Given the description of an element on the screen output the (x, y) to click on. 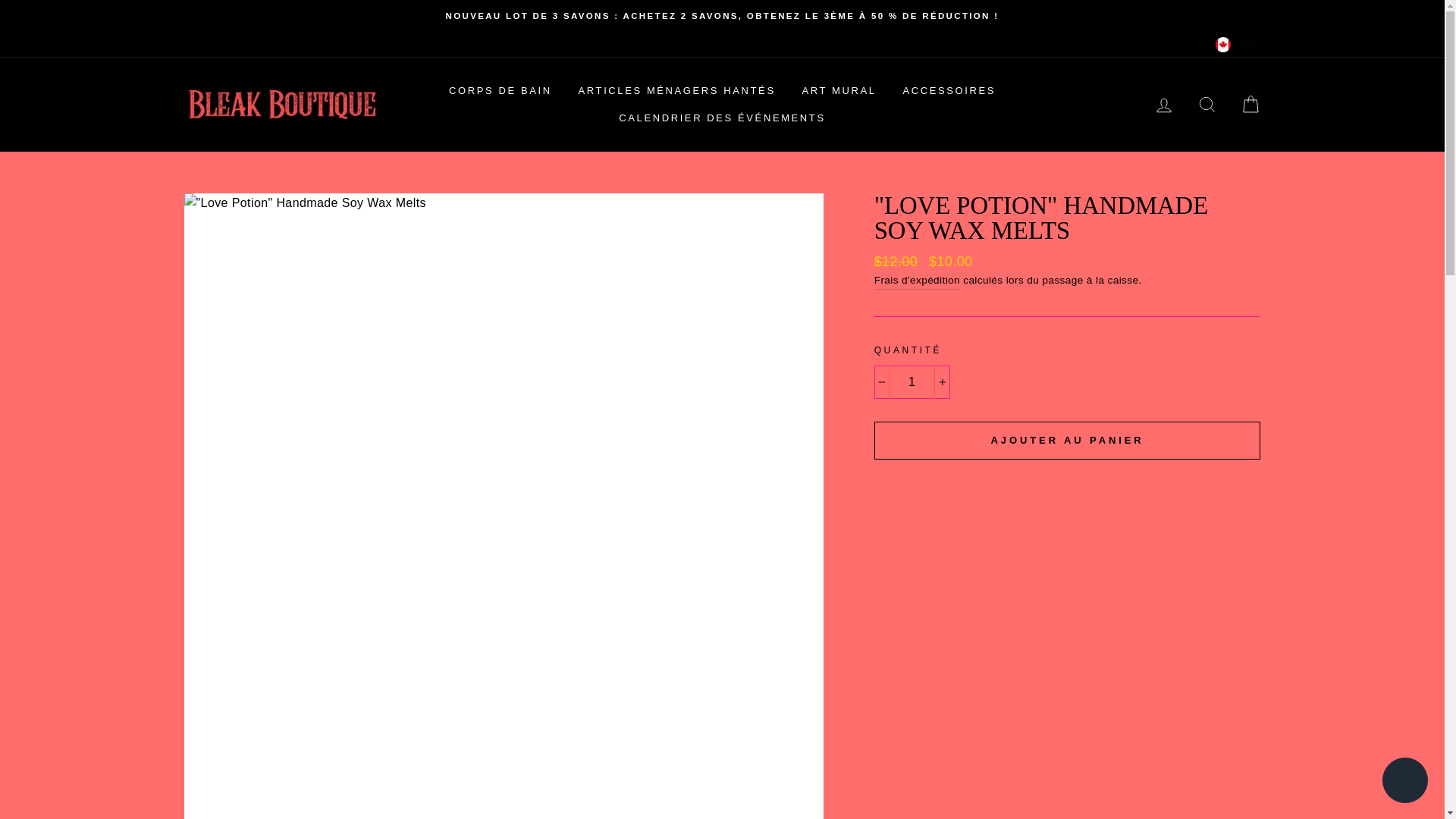
Chat de la boutique en ligne Shopify (1404, 781)
1 (912, 381)
